Given the description of an element on the screen output the (x, y) to click on. 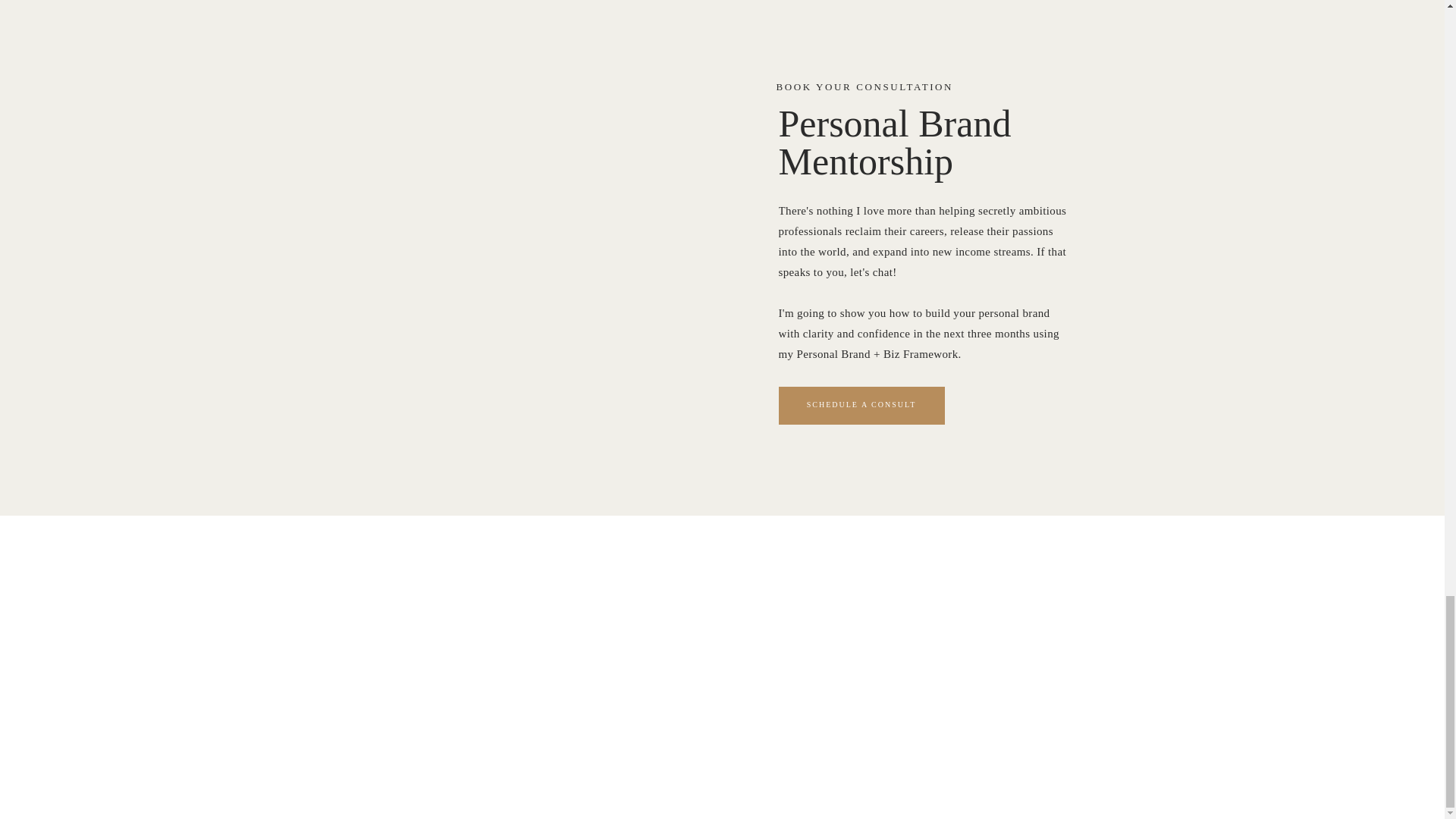
SCHEDULE A CONSULT (861, 404)
